Given the description of an element on the screen output the (x, y) to click on. 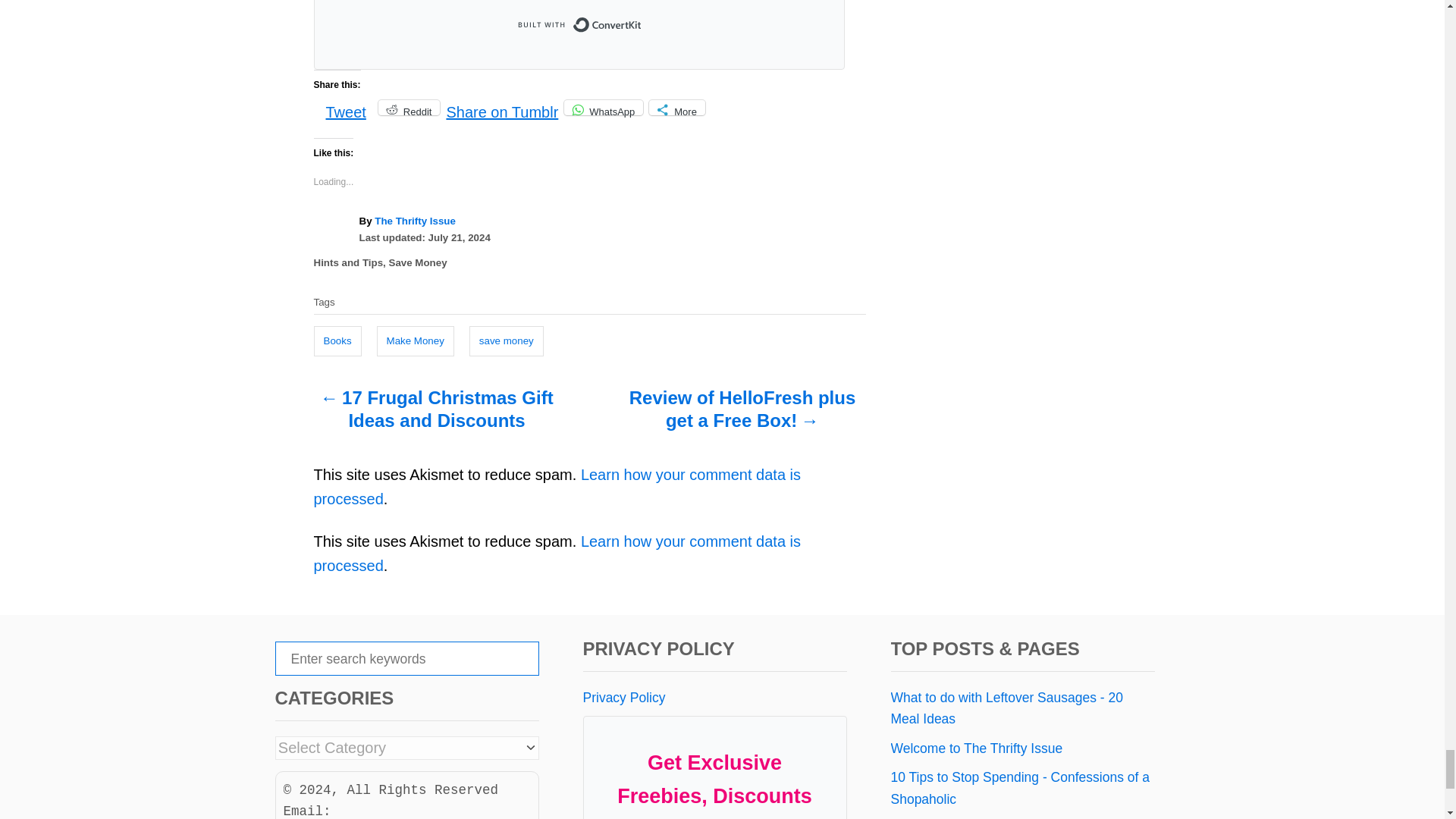
Click to share on WhatsApp (603, 107)
Click to share on Reddit (409, 107)
Share on Tumblr (501, 106)
